Given the description of an element on the screen output the (x, y) to click on. 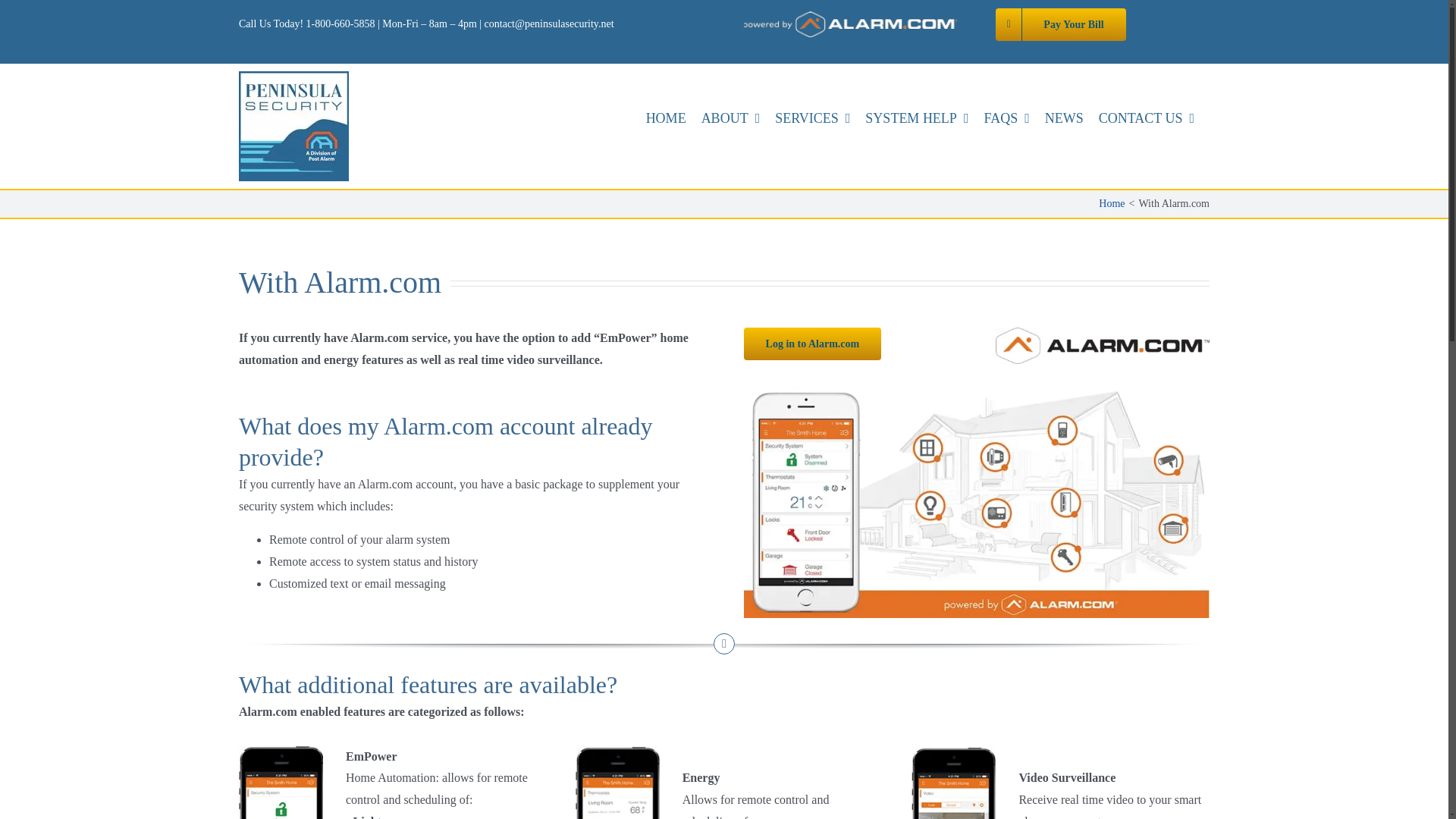
Home (1111, 203)
Pay Your Bill (1060, 24)
existing-alarm-chart (976, 502)
HOME (673, 118)
FAQS (1013, 118)
ABOUT (738, 118)
SYSTEM HELP (924, 118)
SERVICES (819, 118)
existing-alarm-dot-com (1102, 345)
NEWS (1072, 118)
CONTACT US (1154, 118)
Log in to Alarm.com (813, 343)
